Given the description of an element on the screen output the (x, y) to click on. 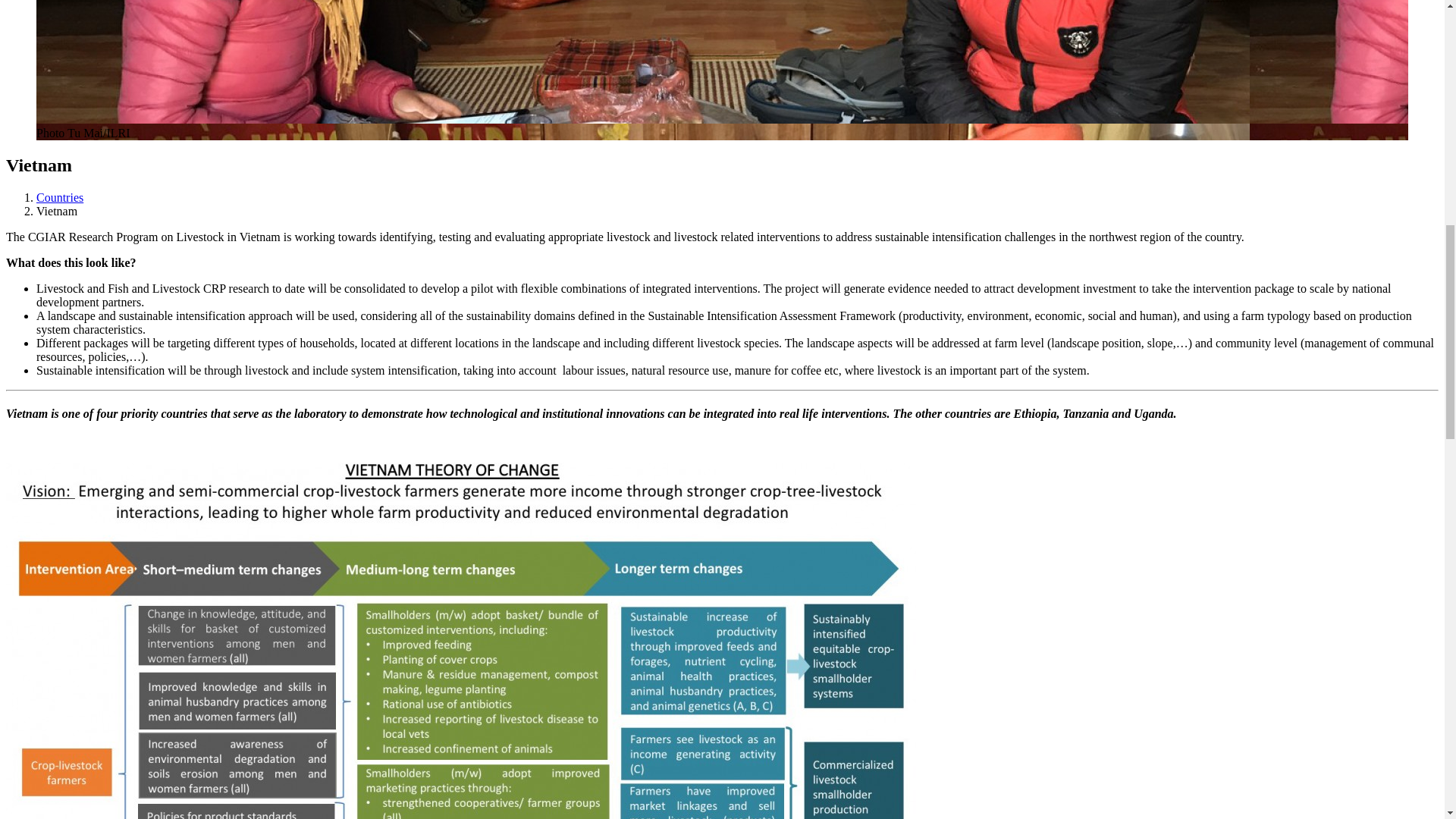
Countries (59, 196)
